Given the description of an element on the screen output the (x, y) to click on. 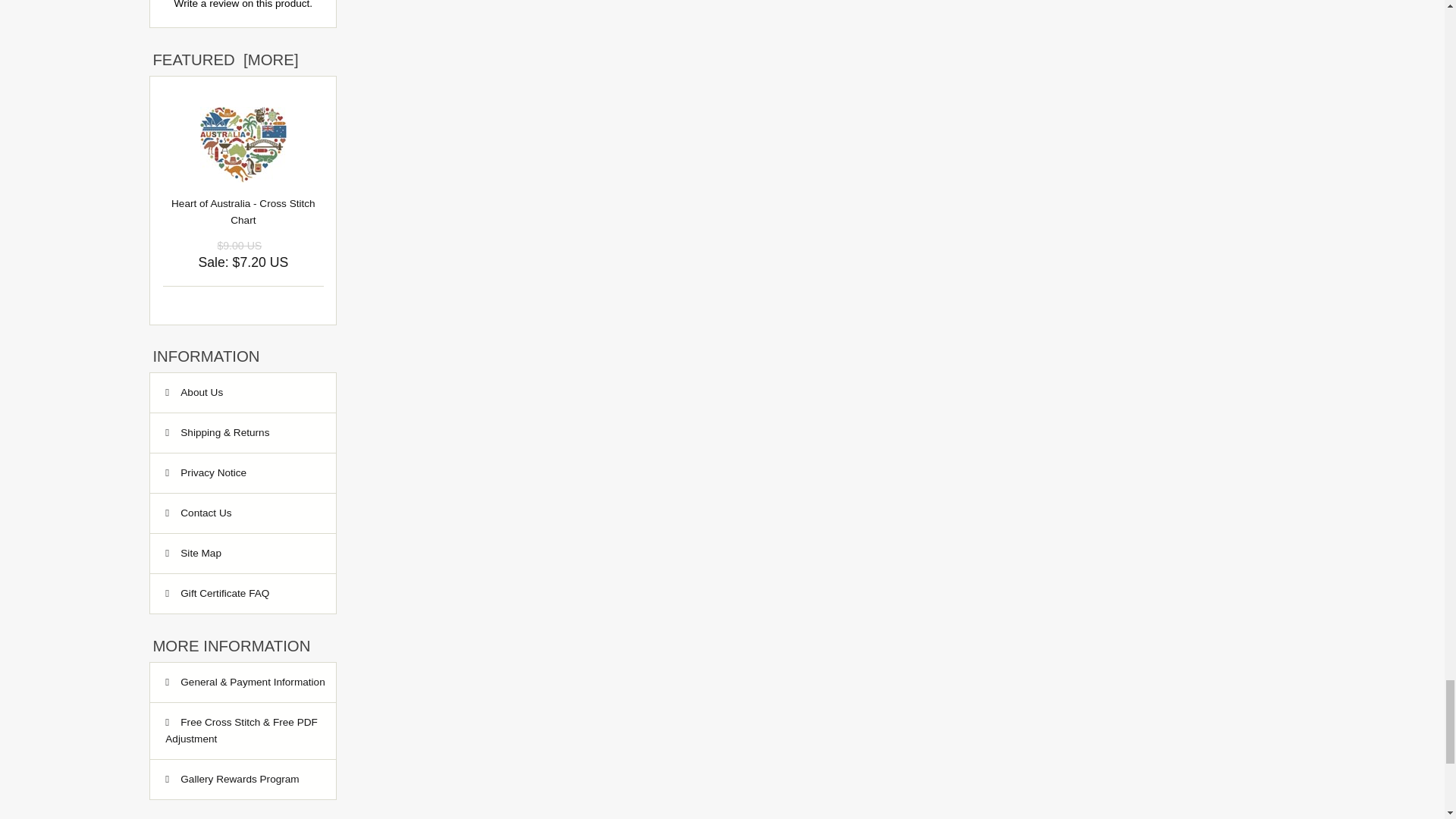
Heart of Australia - Cross Stitch Chart (243, 144)
